Given the description of an element on the screen output the (x, y) to click on. 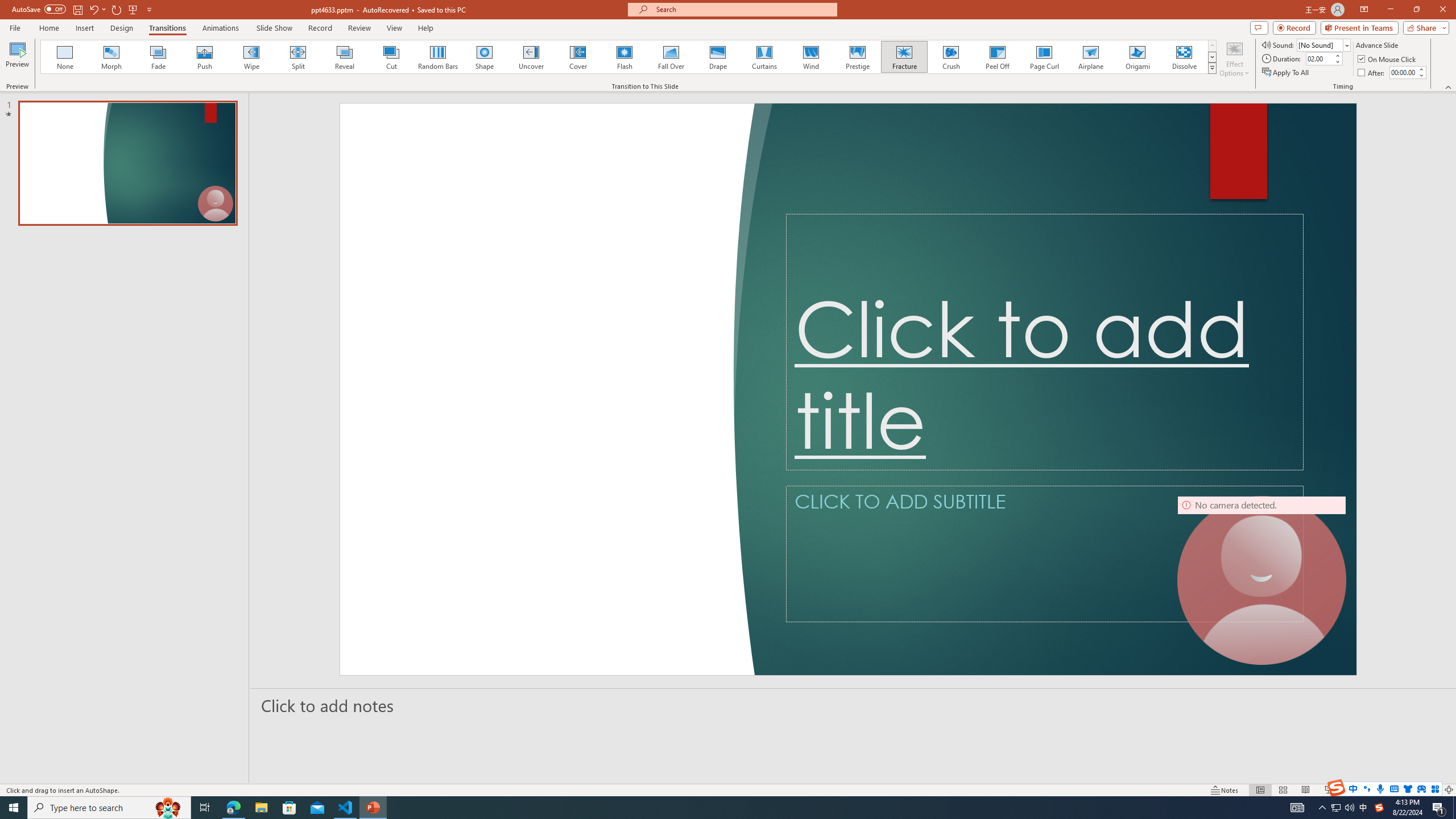
After (1403, 72)
Curtains (764, 56)
AutomationID: AnimationTransitionGallery (628, 56)
None (65, 56)
